Given the description of an element on the screen output the (x, y) to click on. 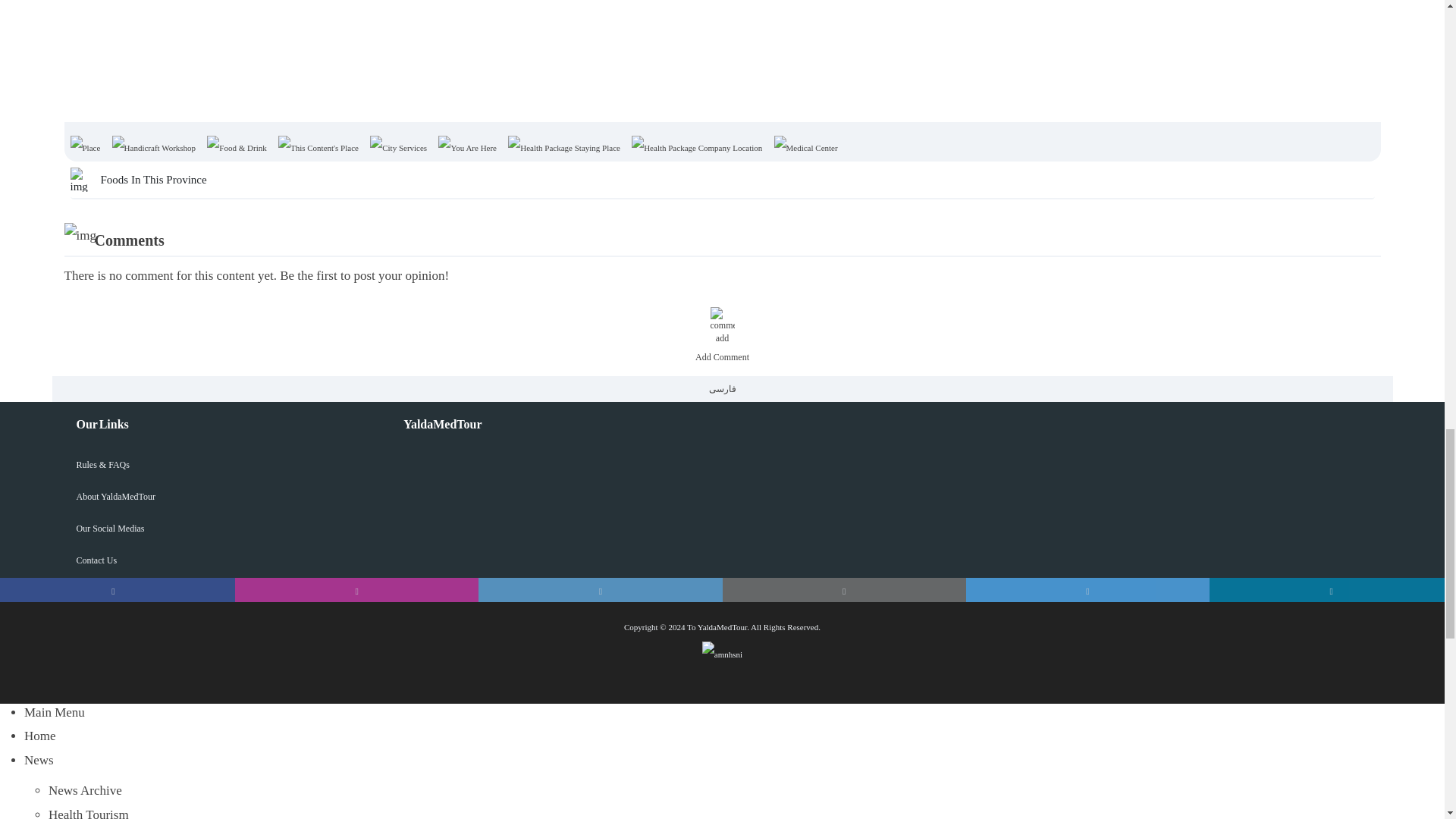
Foods In This Province (721, 180)
Add Comment (721, 335)
